Given the description of an element on the screen output the (x, y) to click on. 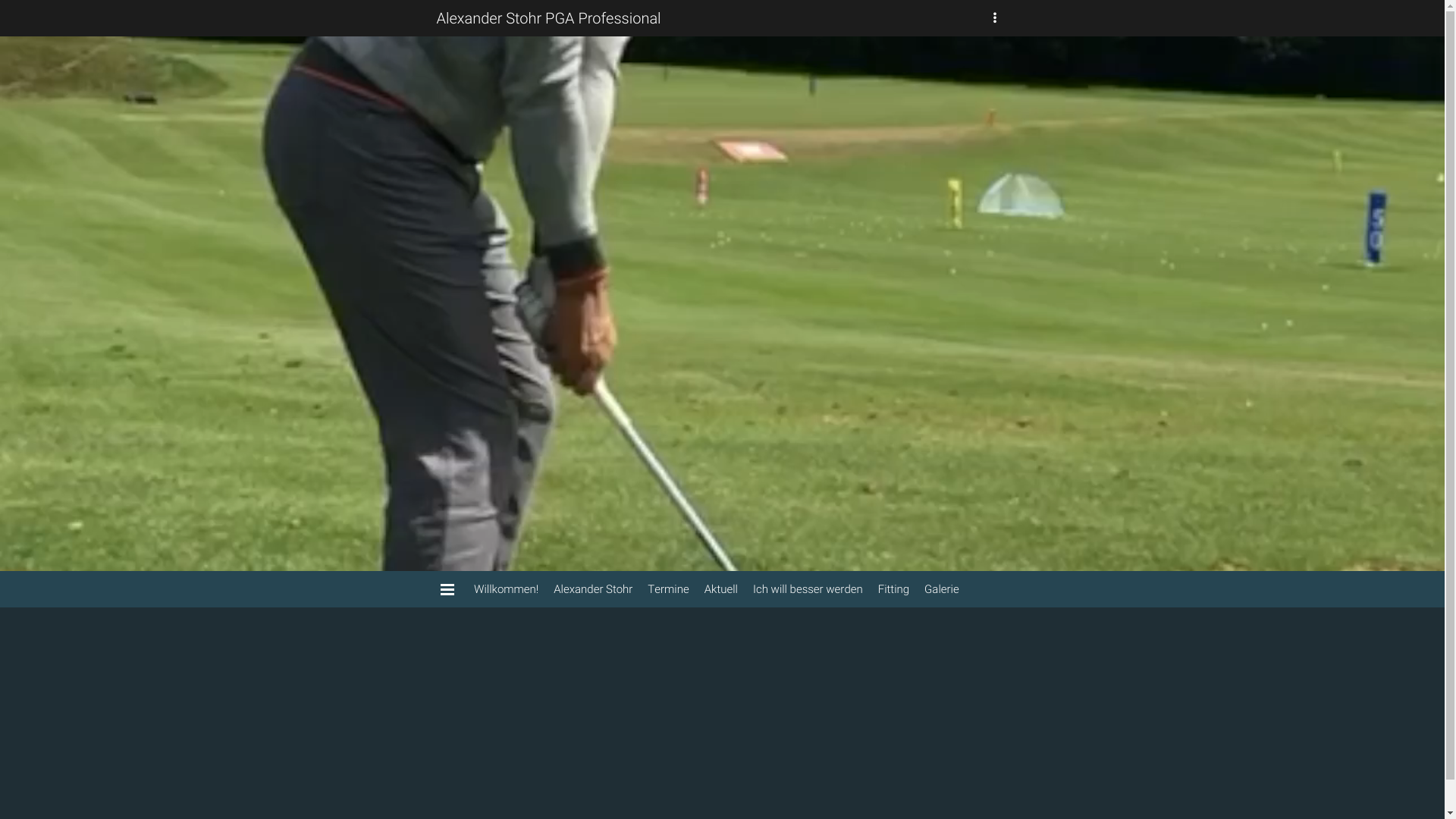
Aktuell Element type: text (720, 589)
Fitting Element type: text (893, 589)
Alexander Stohr Element type: text (593, 589)
Galerie Element type: text (941, 589)
Willkommen! Element type: text (506, 589)
Termine Element type: text (668, 589)
